Given the description of an element on the screen output the (x, y) to click on. 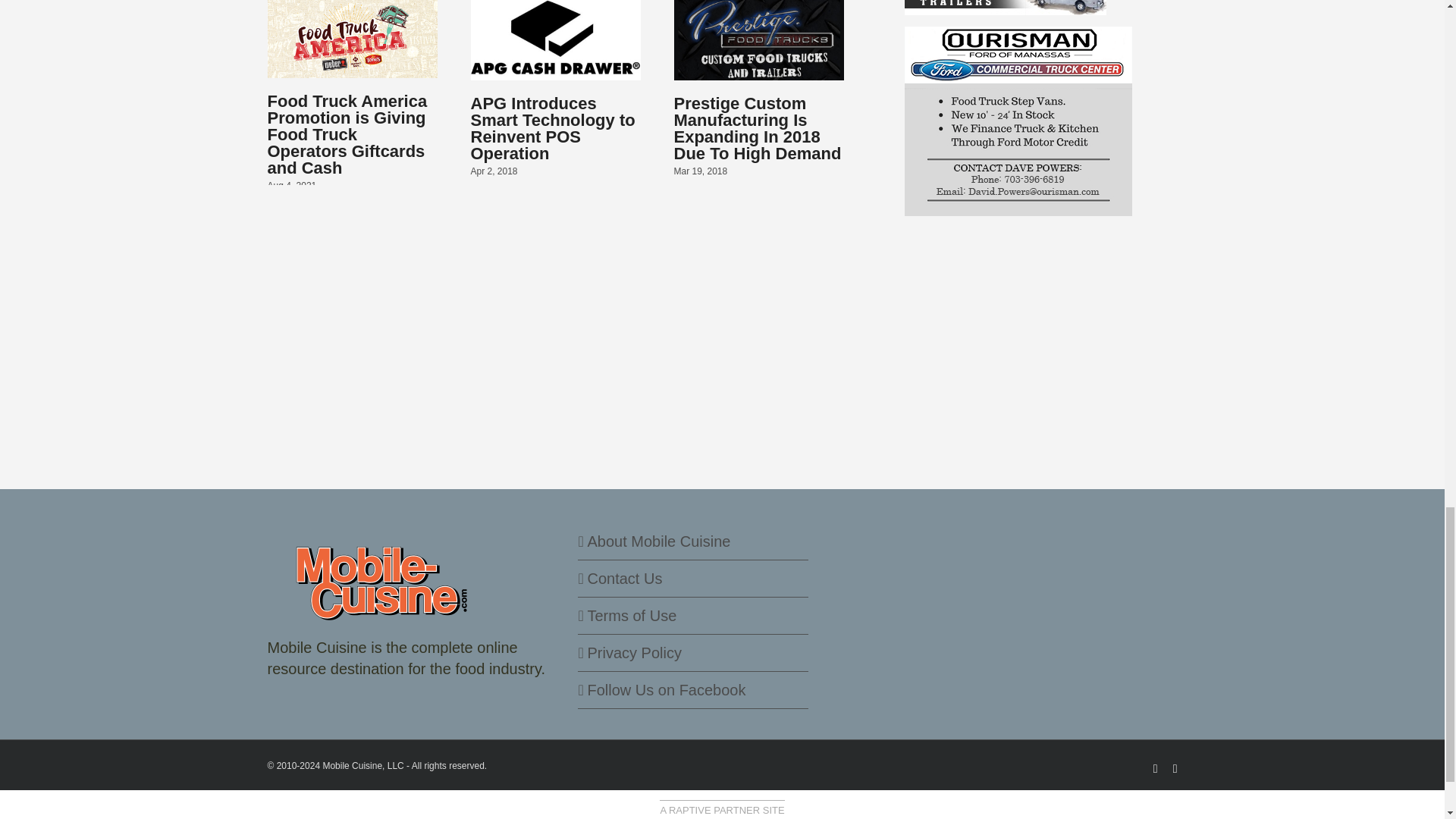
APG Introduces Smart Technology to  Reinvent POS Operation (552, 128)
